Given the description of an element on the screen output the (x, y) to click on. 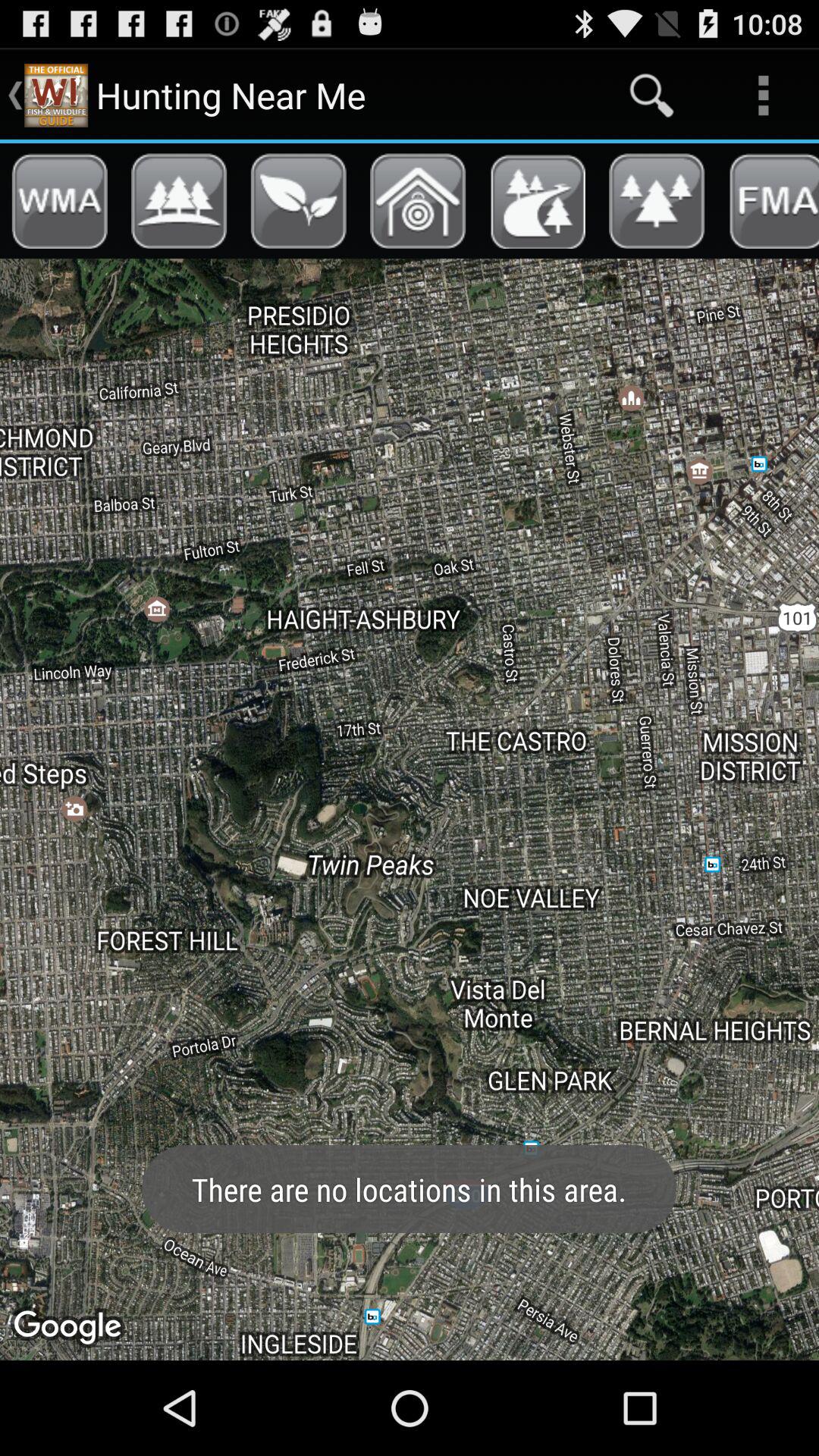
location (417, 201)
